Given the description of an element on the screen output the (x, y) to click on. 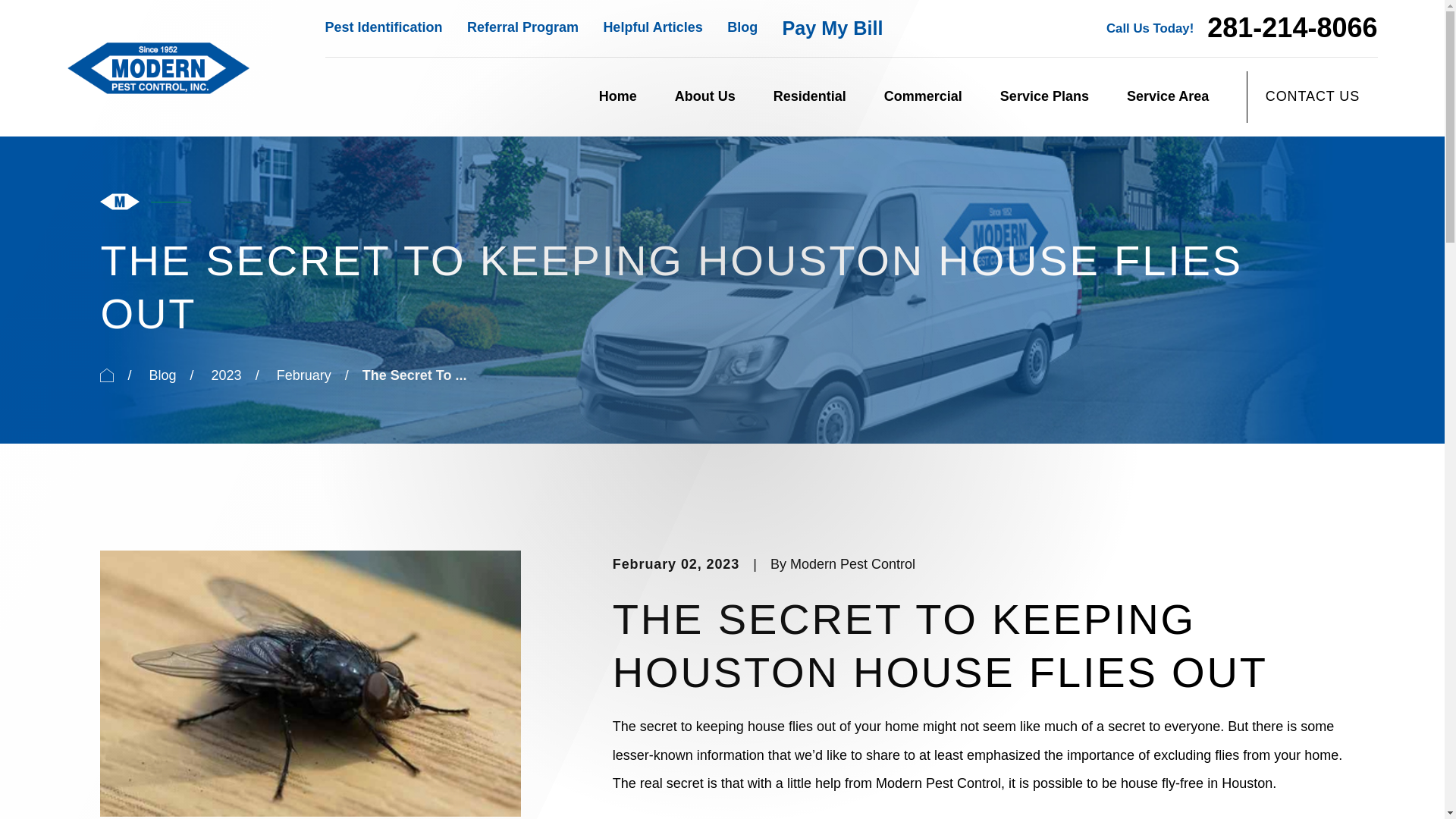
Go Home (106, 375)
Referral Program (522, 27)
About Us (705, 96)
Service Plans (1044, 96)
Blog (741, 27)
Helpful Articles (651, 27)
Home (157, 67)
Modern Pest Control (157, 67)
Service Area (1167, 96)
Pest Identification (383, 27)
281-214-8066 (1292, 27)
Commercial (922, 96)
Pay My Bill (833, 27)
Residential (809, 96)
